Given the description of an element on the screen output the (x, y) to click on. 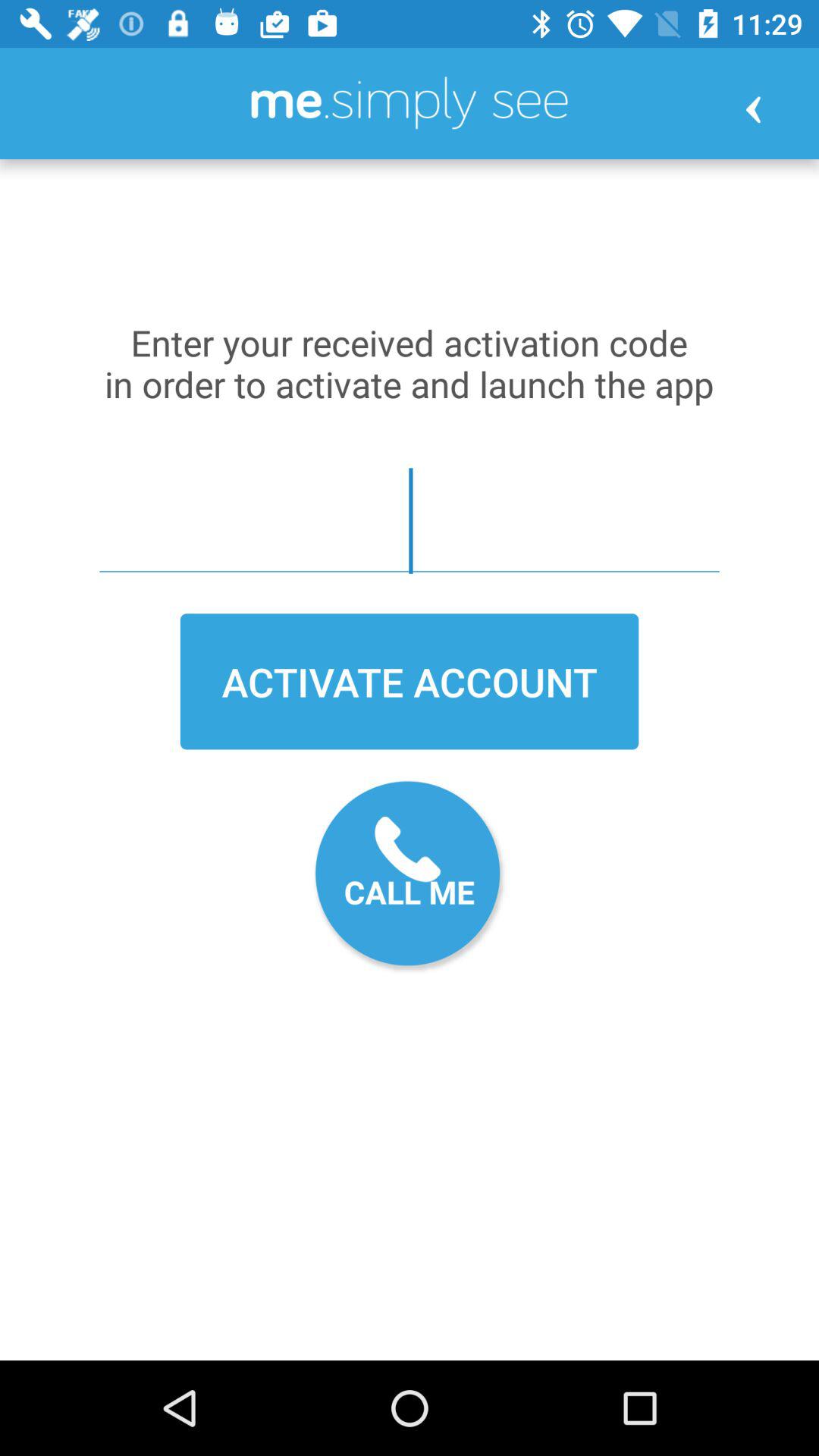
make call (409, 876)
